Given the description of an element on the screen output the (x, y) to click on. 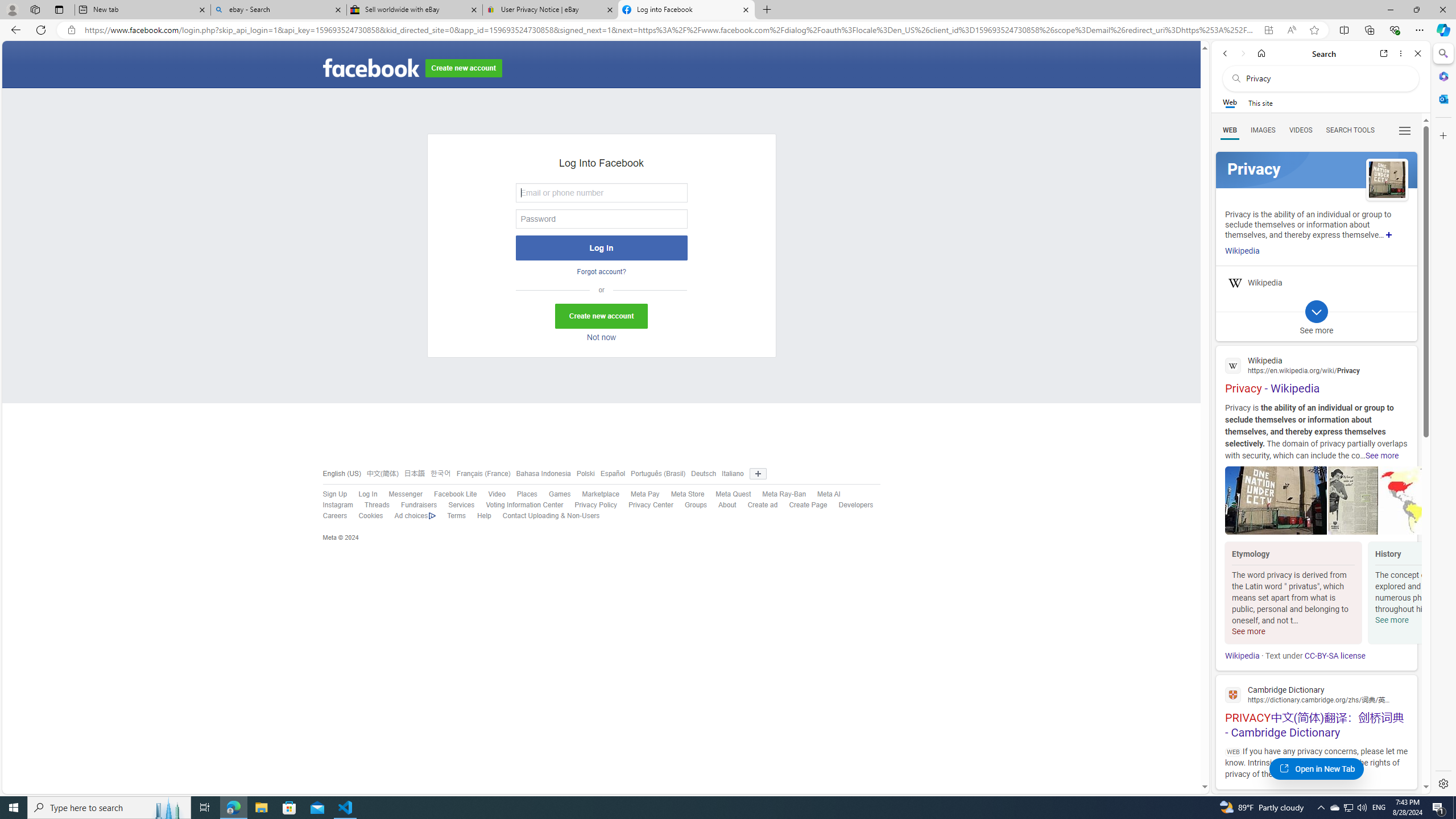
Contact Uploading & Non-Users (550, 515)
Show more languages (757, 473)
Log In (367, 493)
Cookies (364, 516)
Home (1261, 53)
Meta Store (681, 494)
Deutsch (703, 473)
Marketplace (600, 493)
English (US) (341, 473)
Terms (450, 516)
Sign Up (334, 493)
Meta AI (828, 493)
Groups (689, 505)
